Given the description of an element on the screen output the (x, y) to click on. 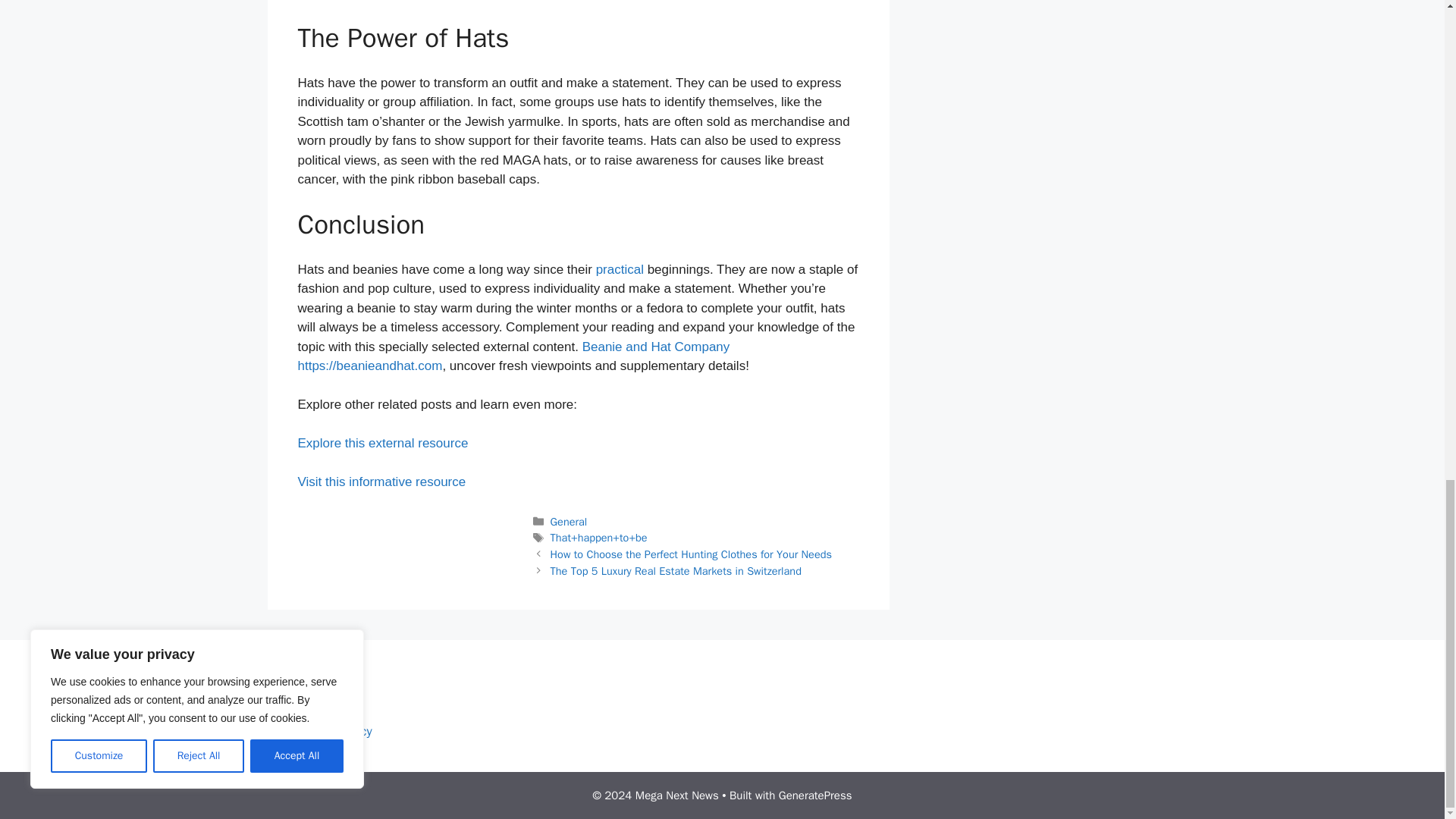
How to Choose the Perfect Hunting Clothes for Your Needs (690, 554)
Visit this informative resource (381, 481)
The Top 5 Luxury Real Estate Markets in Switzerland (676, 571)
General (569, 521)
practical (619, 269)
Explore this external resource (382, 442)
